Given the description of an element on the screen output the (x, y) to click on. 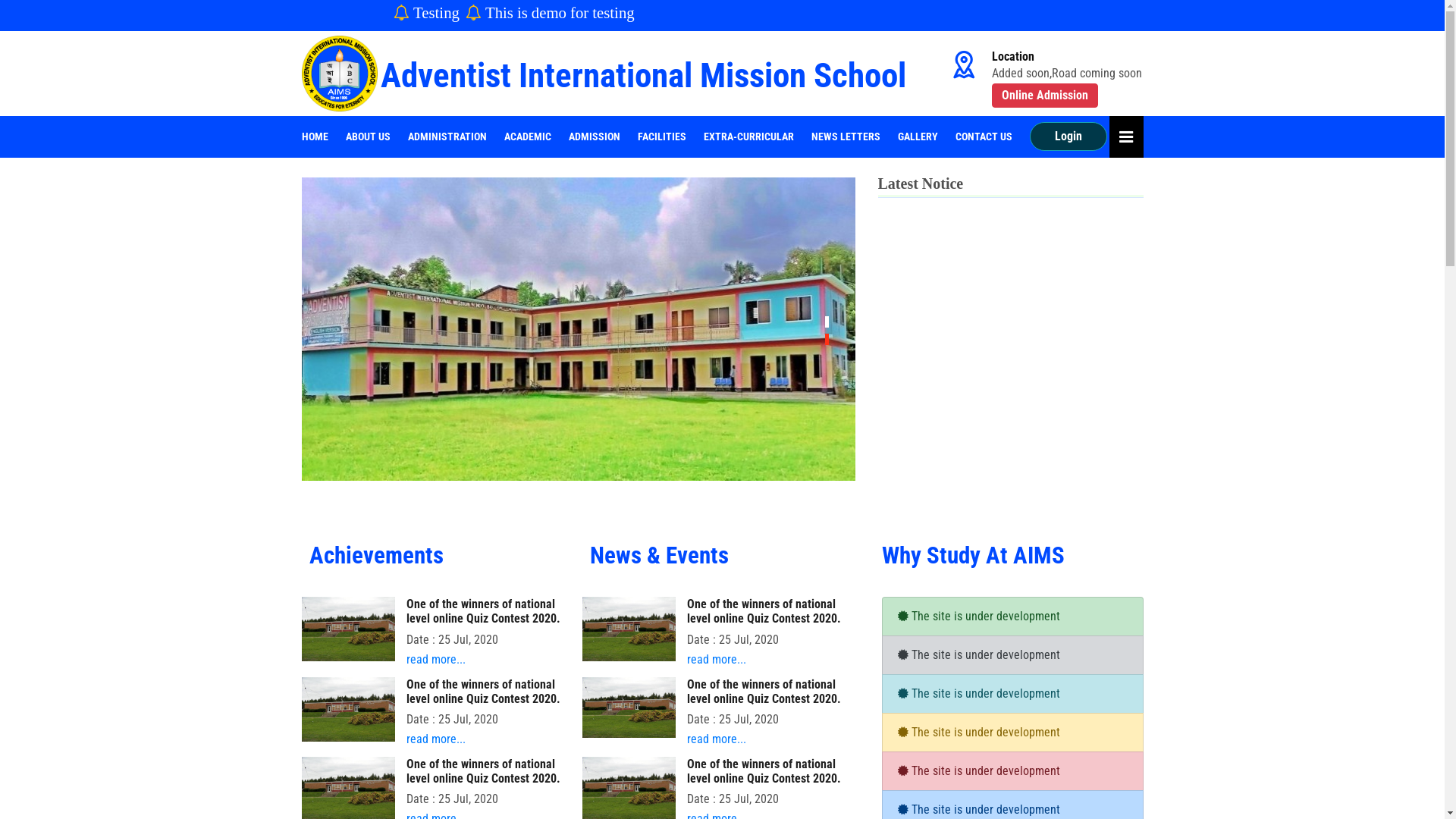
HOME Element type: text (314, 136)
Wordbridge-school-logo Element type: hover (339, 73)
ABOUT US Element type: text (367, 136)
read more... Element type: text (435, 659)
read more... Element type: text (435, 738)
CONTACT US Element type: text (983, 136)
read more... Element type: text (716, 659)
FACILITIES Element type: text (661, 136)
EXTRA-CURRICULAR Element type: text (748, 136)
Online Admission Element type: text (1044, 95)
NEWS LETTERS Element type: text (845, 136)
Login Element type: text (1068, 136)
This is demo for testing Element type: text (725, 12)
GALLERY Element type: text (917, 136)
ADMISSION Element type: text (594, 136)
read more... Element type: text (716, 738)
Online Admission Element type: text (1044, 95)
AIMS Element type: hover (578, 328)
ADMINISTRATION Element type: text (446, 136)
ACADEMIC Element type: text (526, 136)
Testing Element type: text (603, 12)
Login Element type: text (1067, 136)
